Given the description of an element on the screen output the (x, y) to click on. 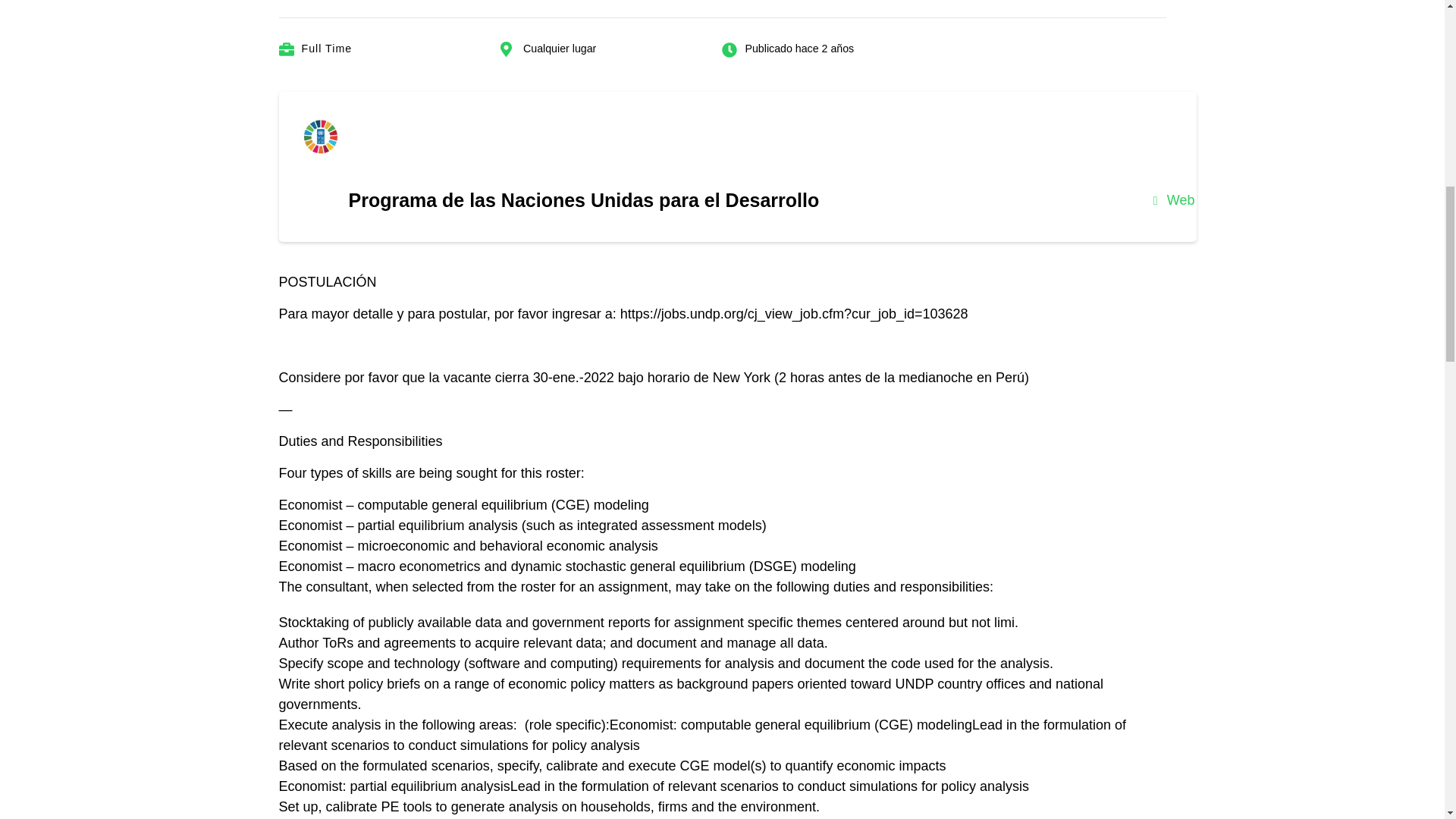
Web (1174, 200)
